Given the description of an element on the screen output the (x, y) to click on. 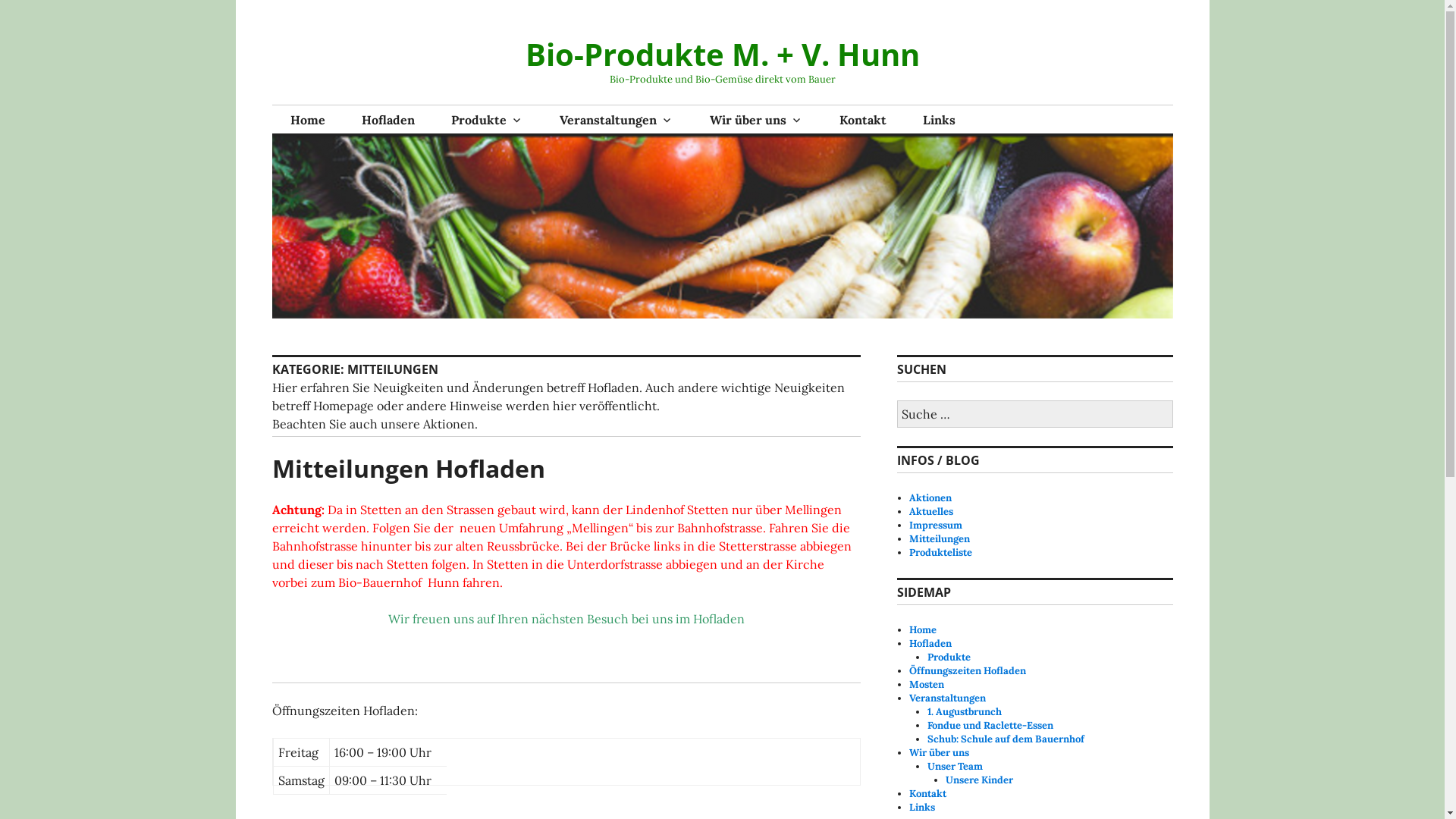
Links Element type: text (922, 806)
Hofladen Element type: text (930, 643)
Produkte Element type: text (948, 656)
Unsere Kinder Element type: text (979, 779)
Veranstaltungen Element type: text (947, 697)
Mitteilungen Element type: text (939, 538)
Links Element type: text (937, 119)
Unser Team Element type: text (954, 765)
Home Element type: text (922, 629)
Schub: Schule auf dem Bauernhof Element type: text (1005, 738)
1. Augustbrunch Element type: text (964, 711)
Kontakt Element type: text (927, 793)
Zum Inhalt springen Element type: text (271, 0)
Aktionen Element type: text (930, 497)
Bio-Produkte M. + V. Hunn Element type: text (721, 54)
Produkteliste Element type: text (940, 552)
Hofladen Element type: text (387, 119)
Mitteilungen Hofladen Element type: text (407, 467)
Veranstaltungen Element type: text (616, 119)
Produkte Element type: text (486, 119)
Kontakt Element type: text (861, 119)
Suche Element type: text (9, 4)
Home Element type: text (306, 119)
Fondue und Raclette-Essen Element type: text (990, 724)
Mosten Element type: text (926, 683)
Impressum Element type: text (935, 524)
Aktuelles Element type: text (931, 511)
